Given the description of an element on the screen output the (x, y) to click on. 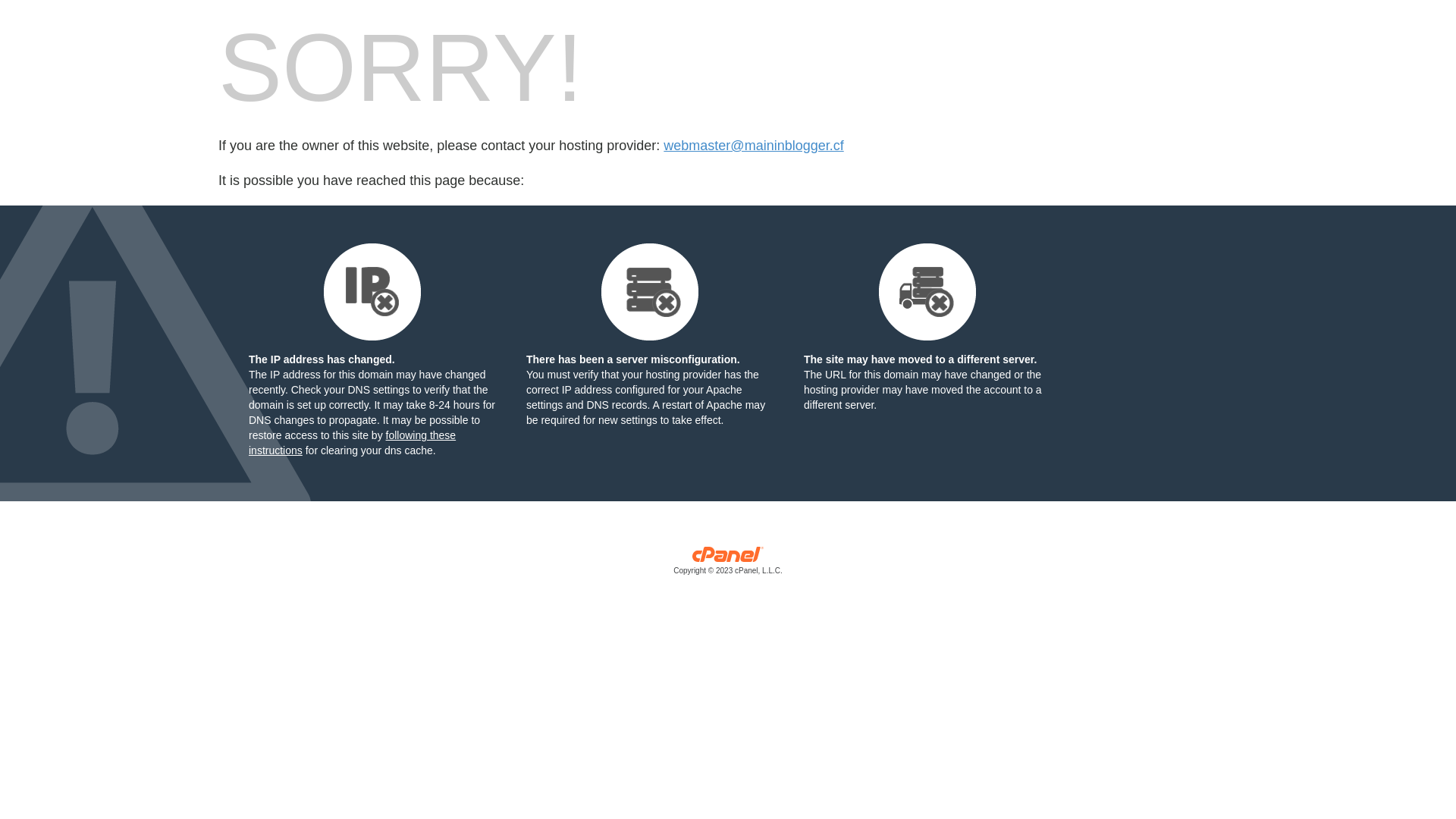
following these instructions Element type: text (351, 442)
webmaster@maininblogger.cf Element type: text (753, 145)
